Given the description of an element on the screen output the (x, y) to click on. 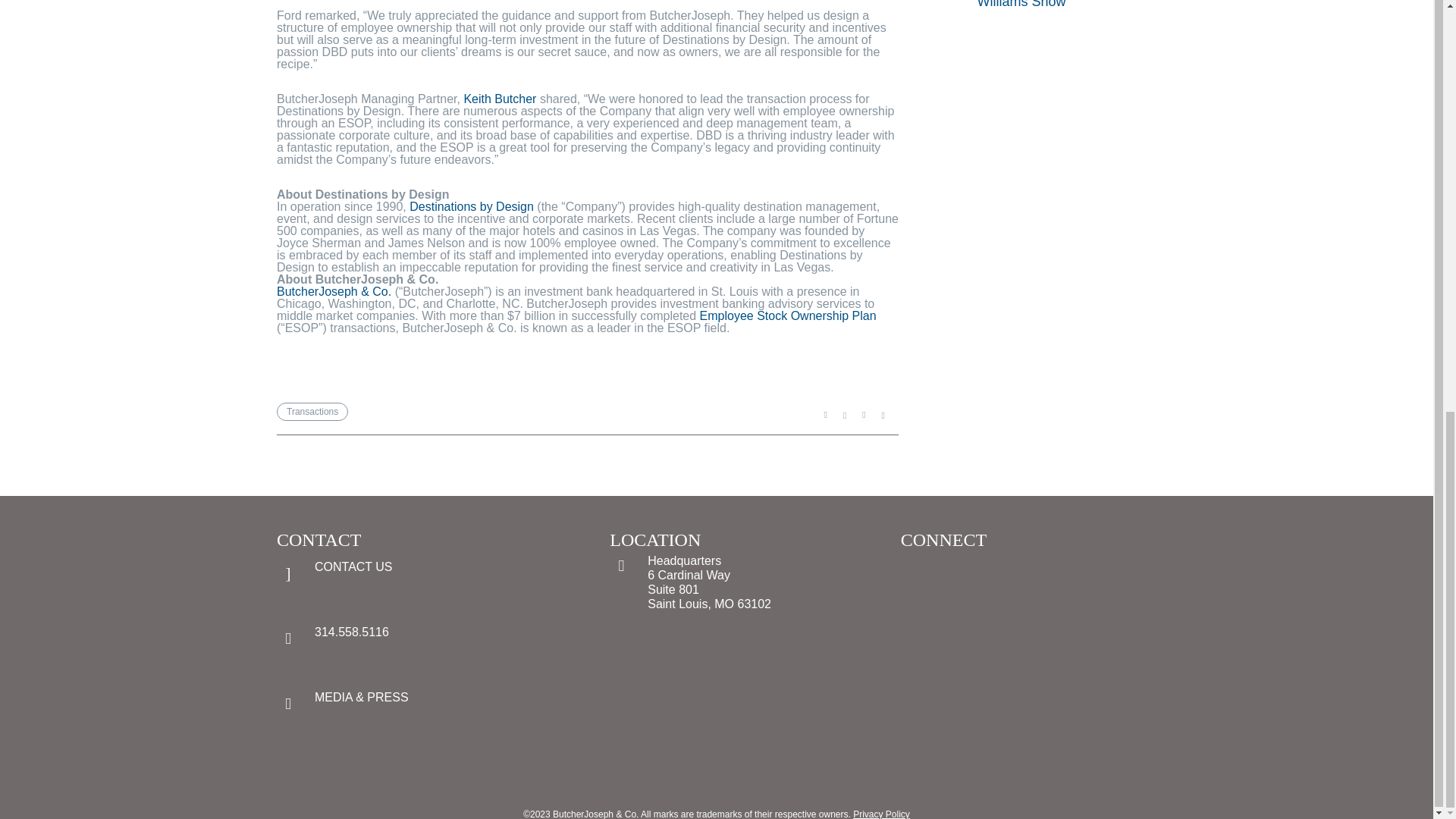
Destinations by Design (471, 205)
Employee Stock Ownership Plan (788, 315)
Transactions (311, 411)
Keith Butcher (499, 98)
